Given the description of an element on the screen output the (x, y) to click on. 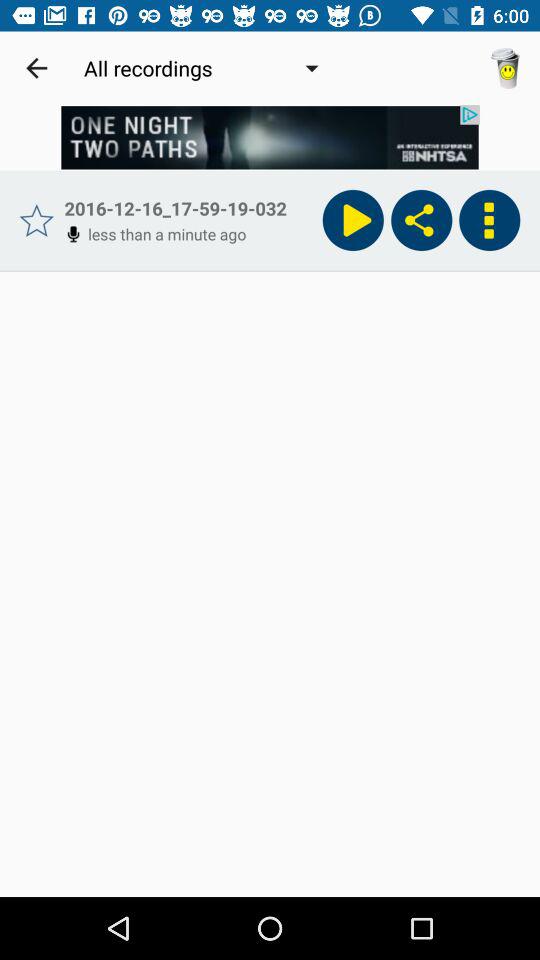
go to advertisement option (270, 137)
